Given the description of an element on the screen output the (x, y) to click on. 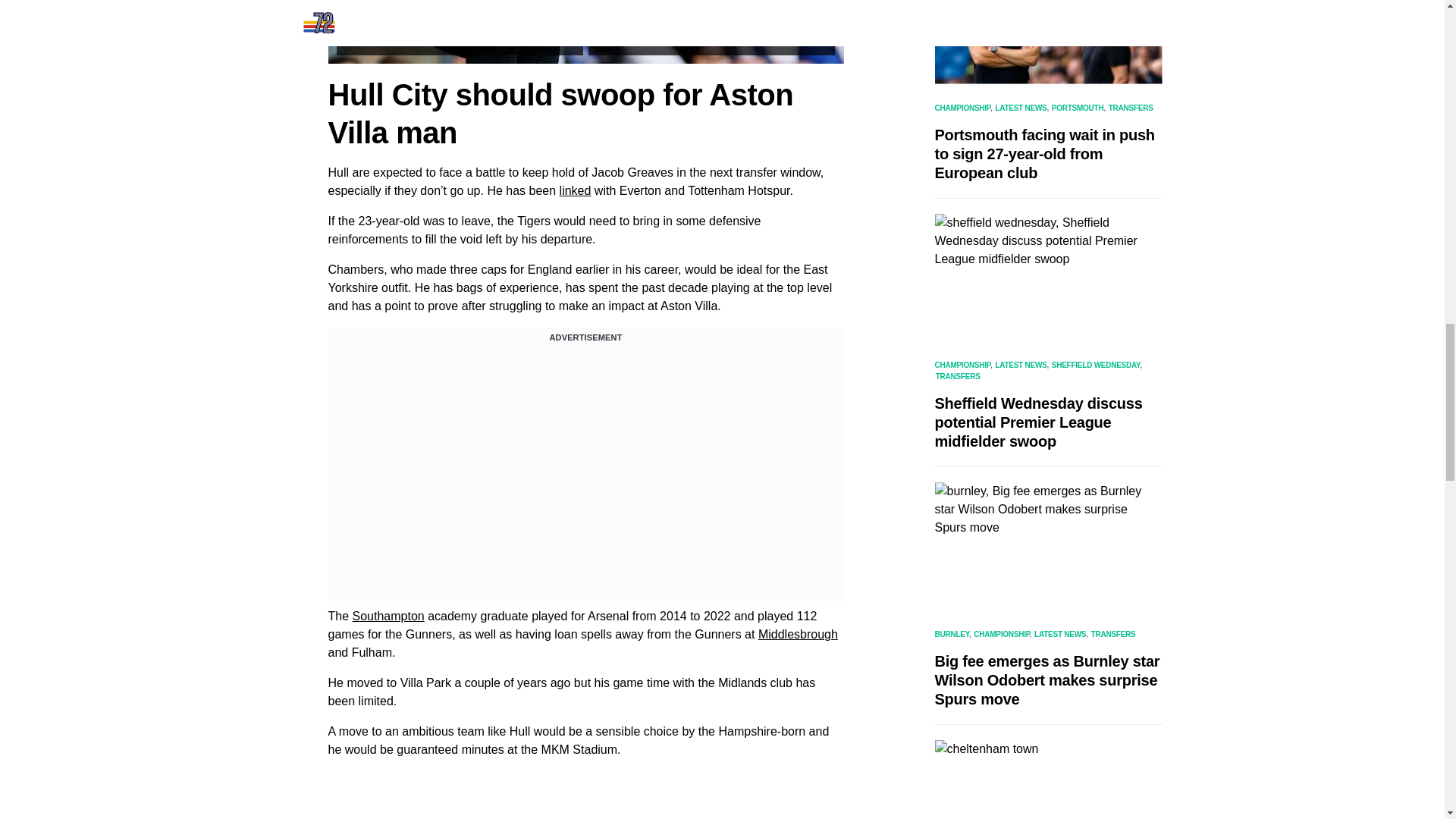
Enzo Maresca (459, 10)
Daniel Farke (711, 39)
David Wagner (459, 39)
Kieran McKenna (711, 10)
